Given the description of an element on the screen output the (x, y) to click on. 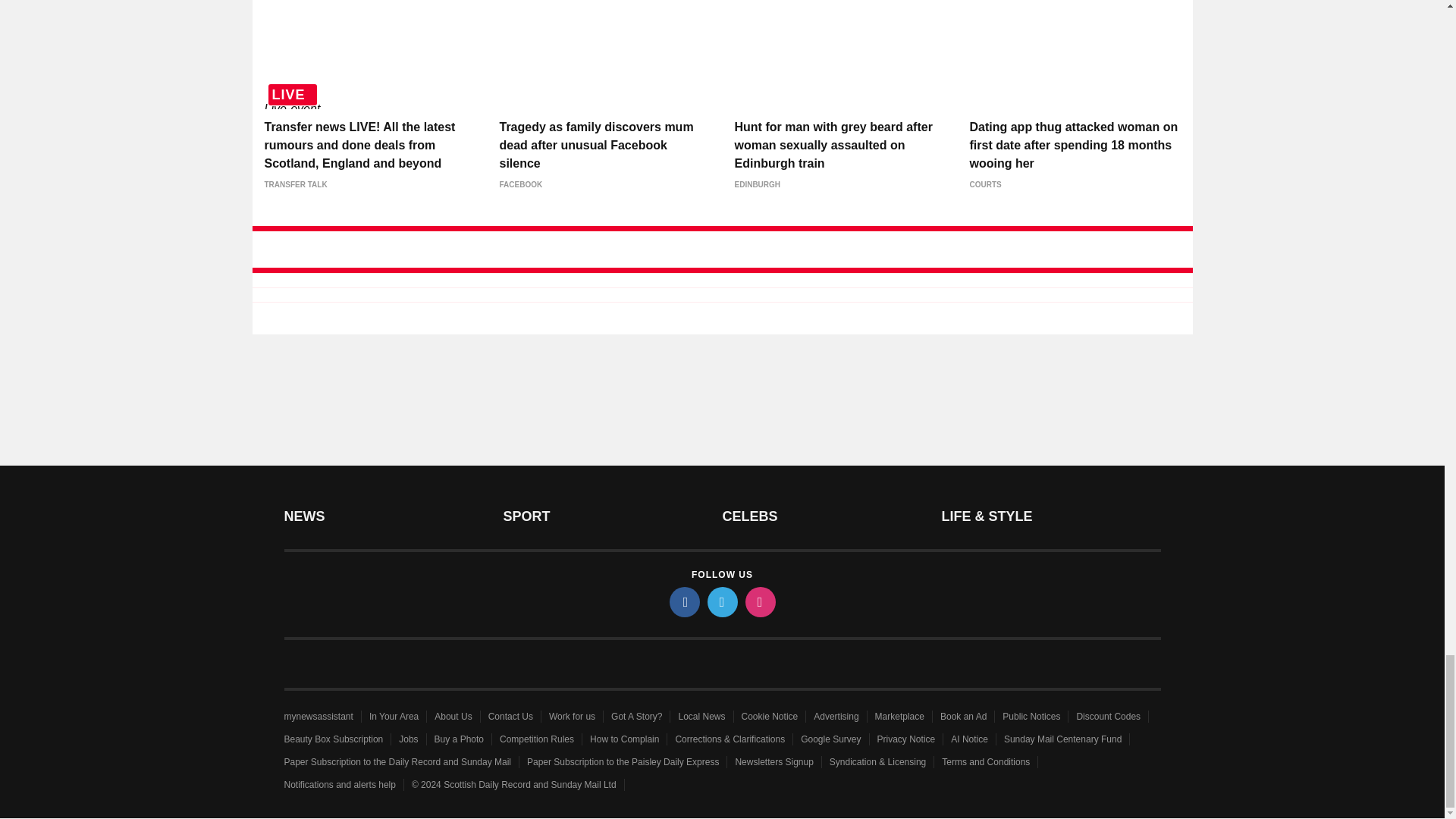
facebook (683, 602)
instagram (759, 602)
twitter (721, 602)
